Given the description of an element on the screen output the (x, y) to click on. 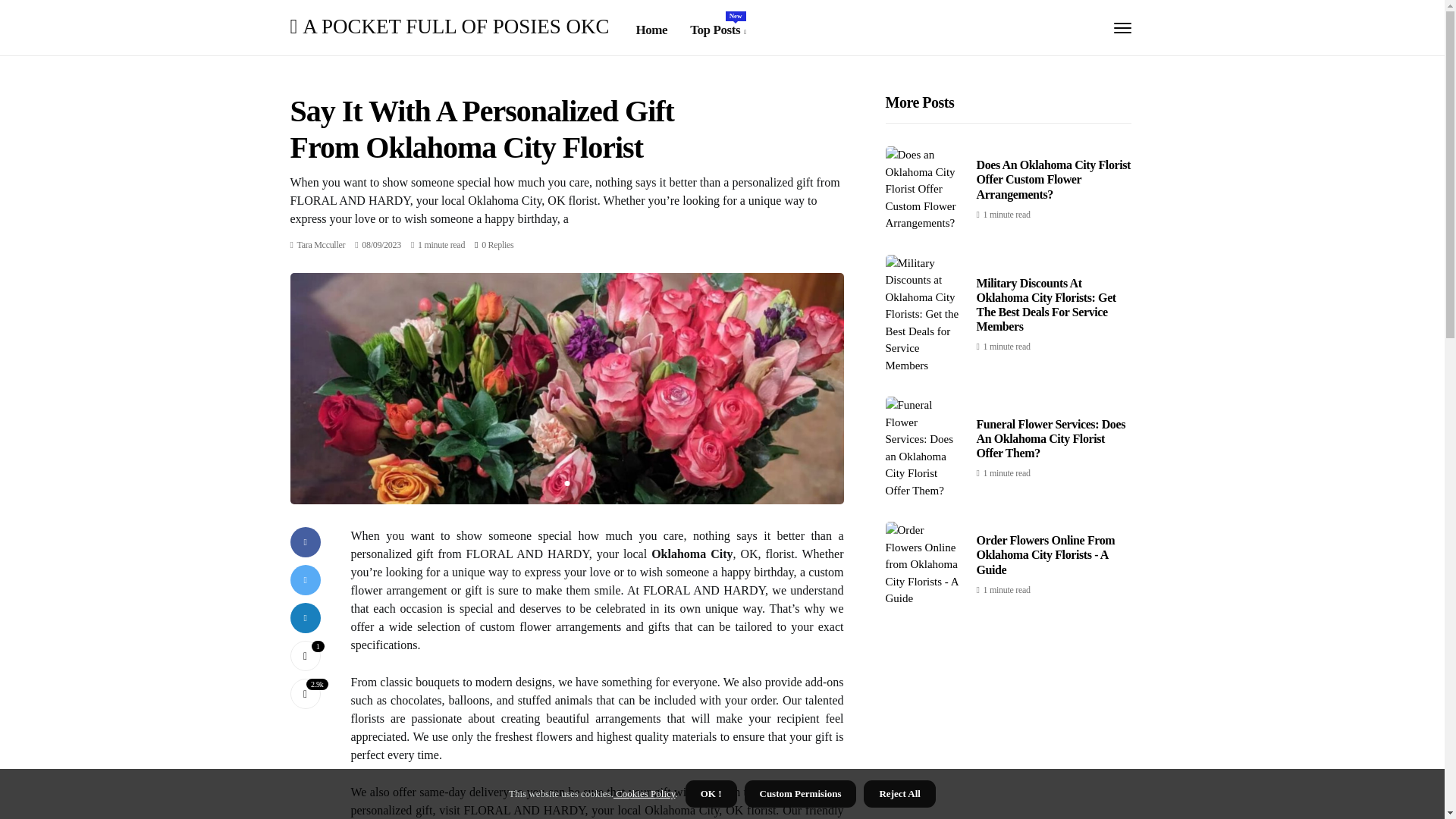
Like (304, 655)
Tara Mcculler (321, 244)
0 Replies (717, 30)
A POCKET FULL OF POSIES OKC (497, 244)
Order Flowers Online From Oklahoma City Florists - A Guide (448, 26)
Posts by Tara Mcculler (1045, 554)
1 (321, 244)
